Given the description of an element on the screen output the (x, y) to click on. 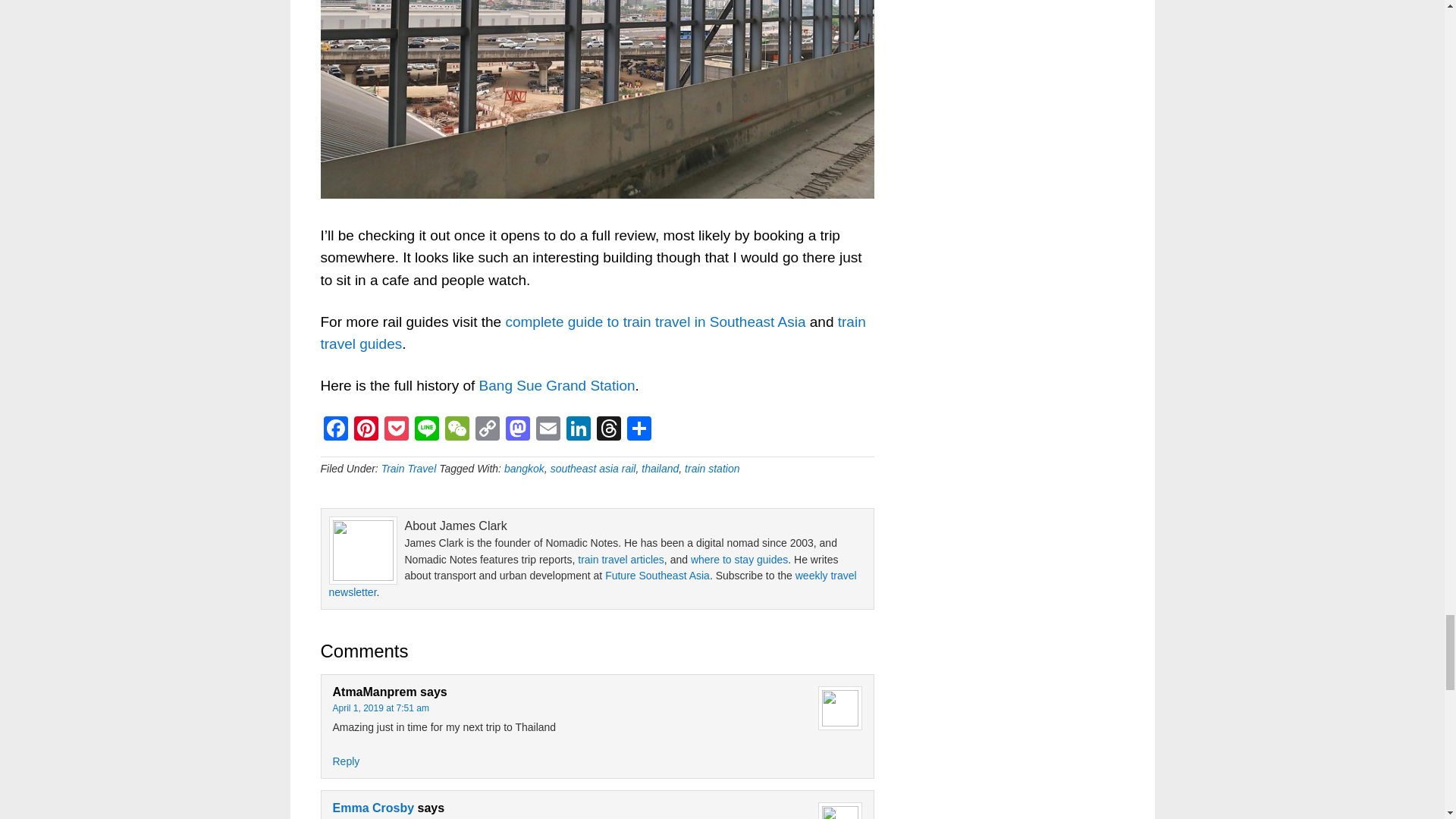
Mastodon (517, 430)
WeChat (456, 430)
Facebook (335, 430)
Facebook (335, 430)
Threads (607, 430)
Copy Link (486, 430)
Bang Sue Grand Station (556, 385)
Share (638, 430)
Line (425, 430)
complete guide to train travel in Southeast Asia (655, 321)
LinkedIn (577, 430)
train station (711, 468)
Train Travel (408, 468)
Pocket (395, 430)
Pinterest (365, 430)
